Given the description of an element on the screen output the (x, y) to click on. 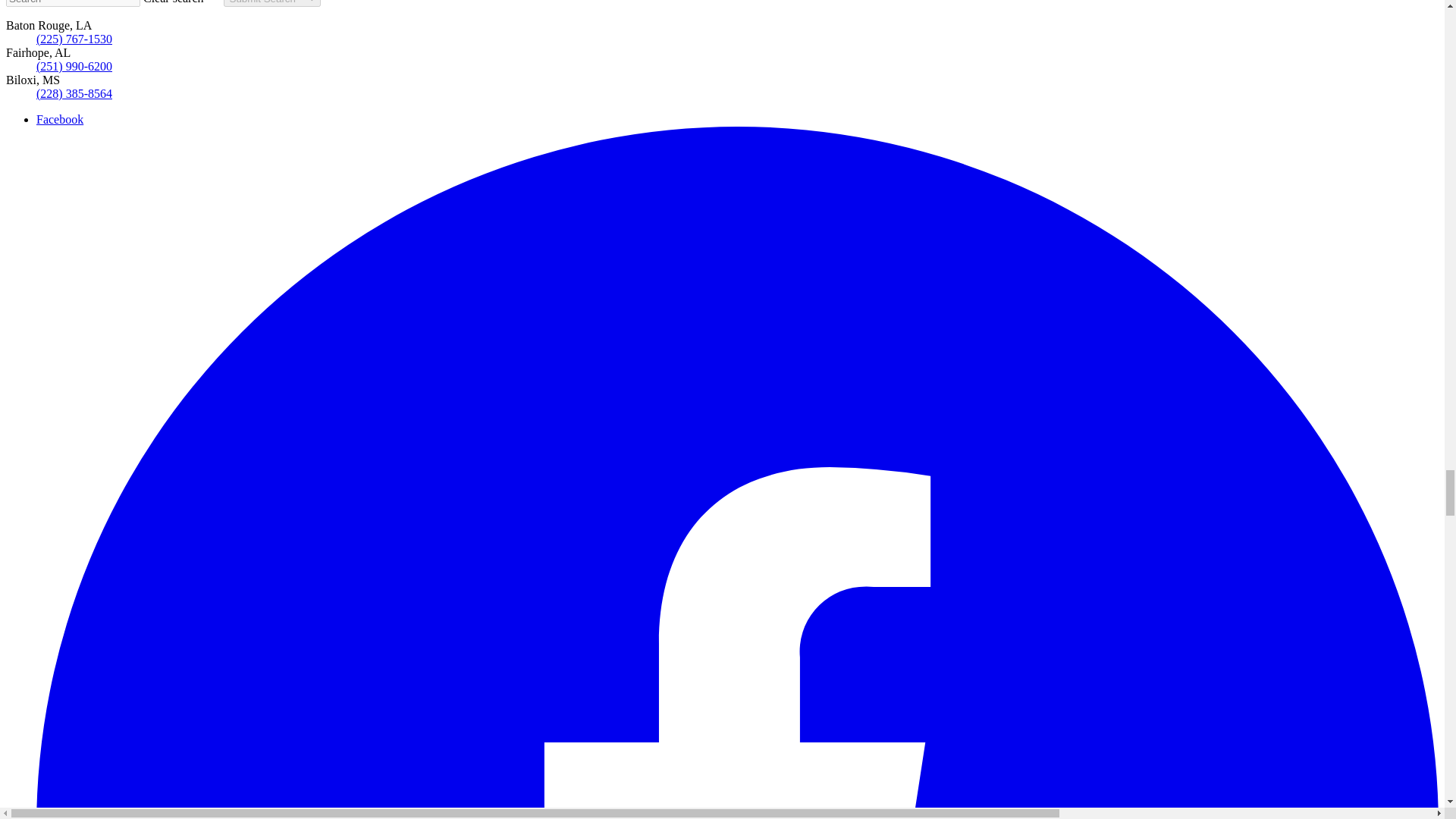
Clear search (183, 2)
Submit Search (272, 3)
